Given the description of an element on the screen output the (x, y) to click on. 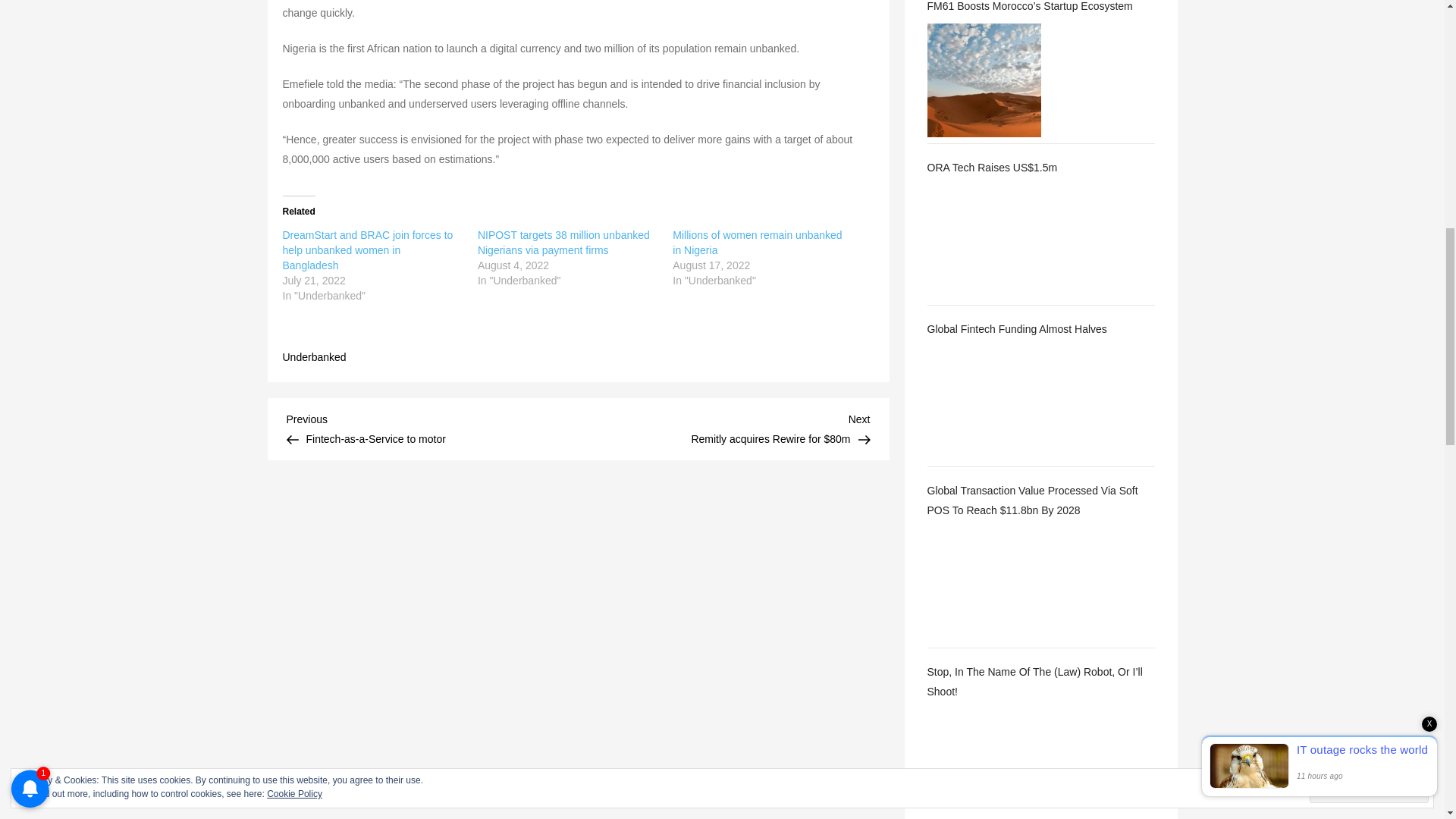
Global fintech funding almost halves (983, 403)
Underbanked (314, 356)
Millions of women remain unbanked in Nigeria (756, 242)
Global Fintech Funding Almost Halves (1040, 329)
Millions of women remain unbanked in Nigeria (432, 427)
